Given the description of an element on the screen output the (x, y) to click on. 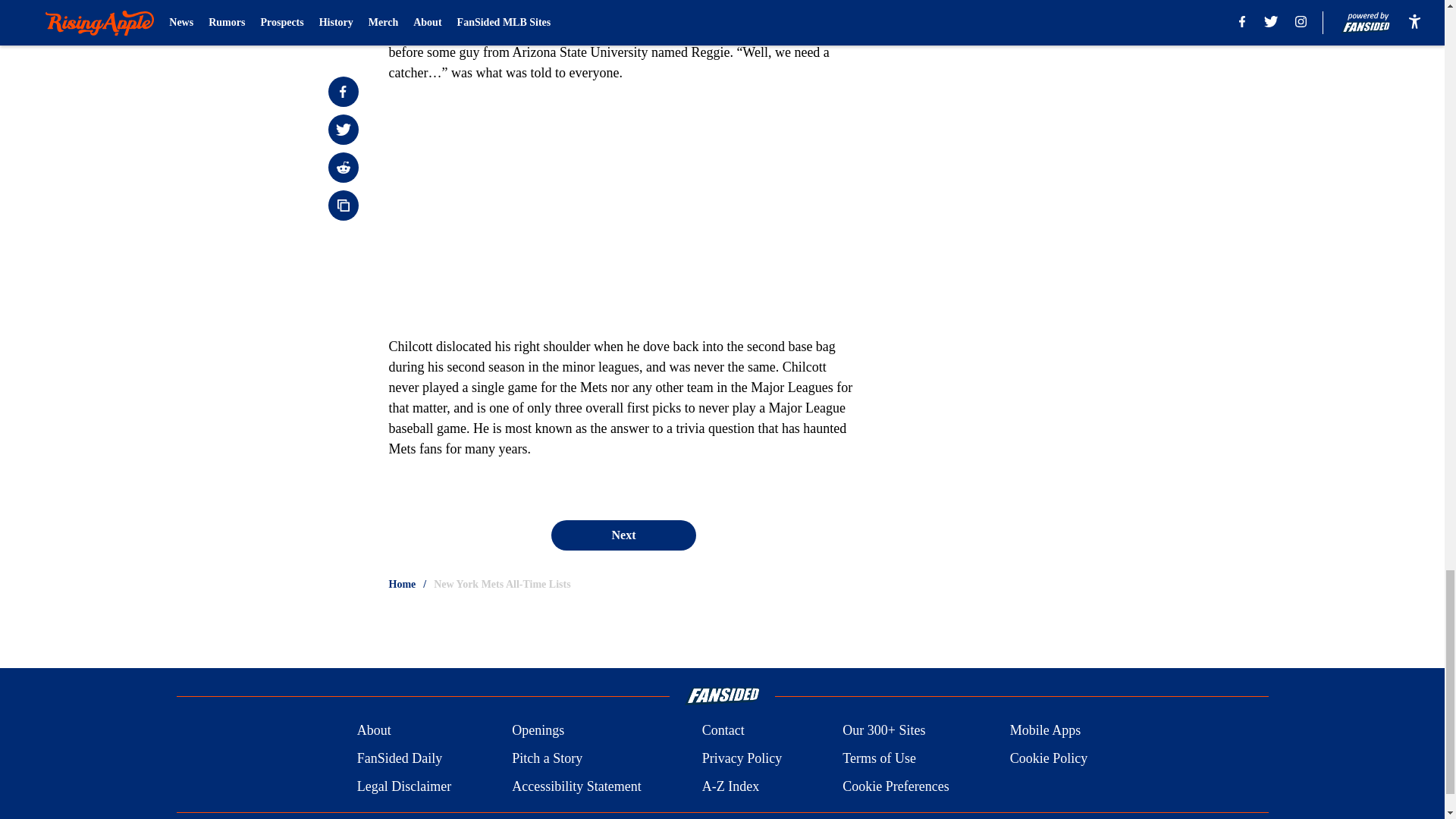
Openings (538, 730)
Privacy Policy (742, 758)
Contact (722, 730)
About (373, 730)
Home (401, 584)
Terms of Use (879, 758)
FanSided Daily (399, 758)
Pitch a Story (547, 758)
Mobile Apps (1045, 730)
Next (622, 535)
